Given the description of an element on the screen output the (x, y) to click on. 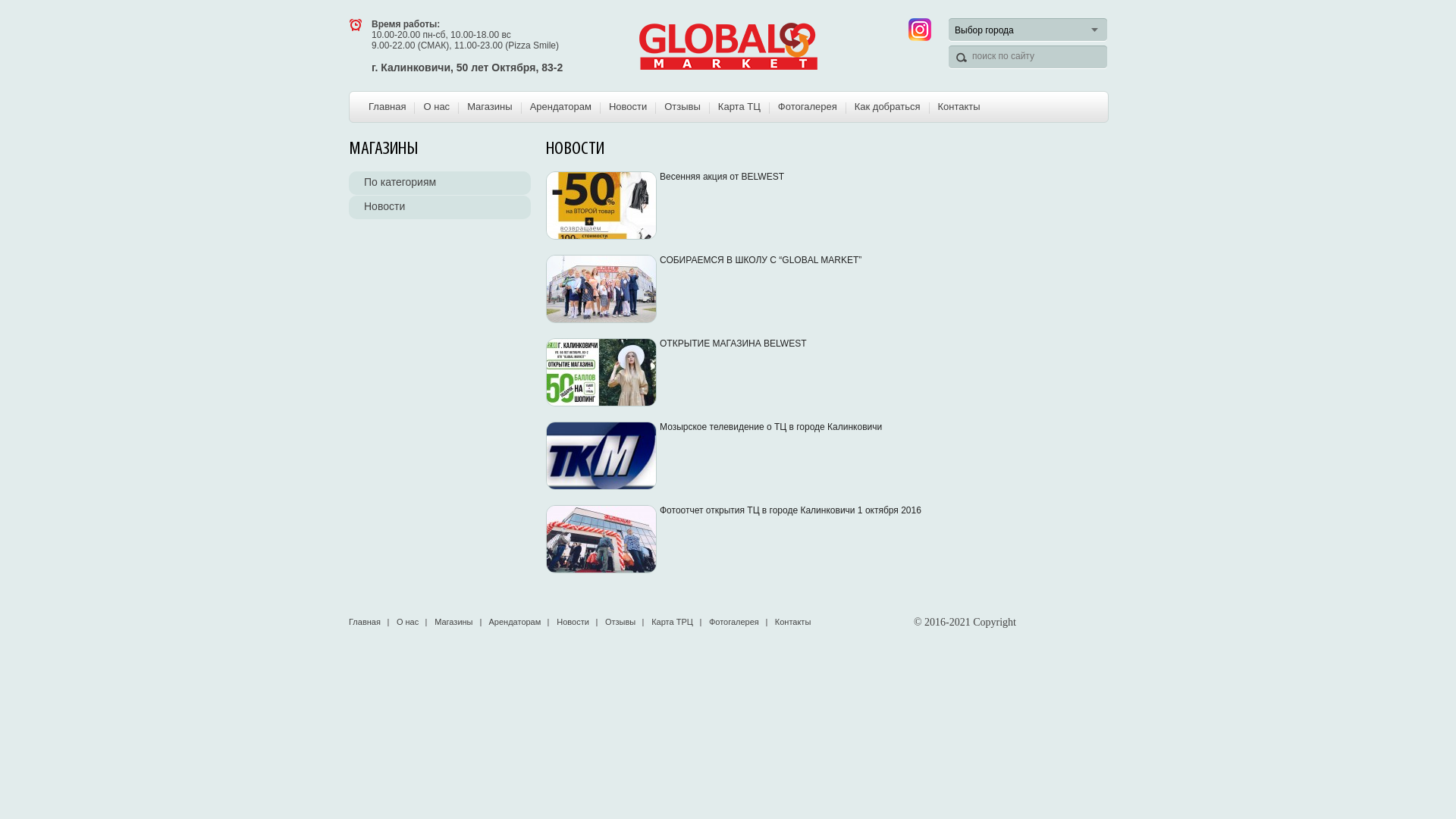
LiveInternet Element type: hover (1095, 621)
